Given the description of an element on the screen output the (x, y) to click on. 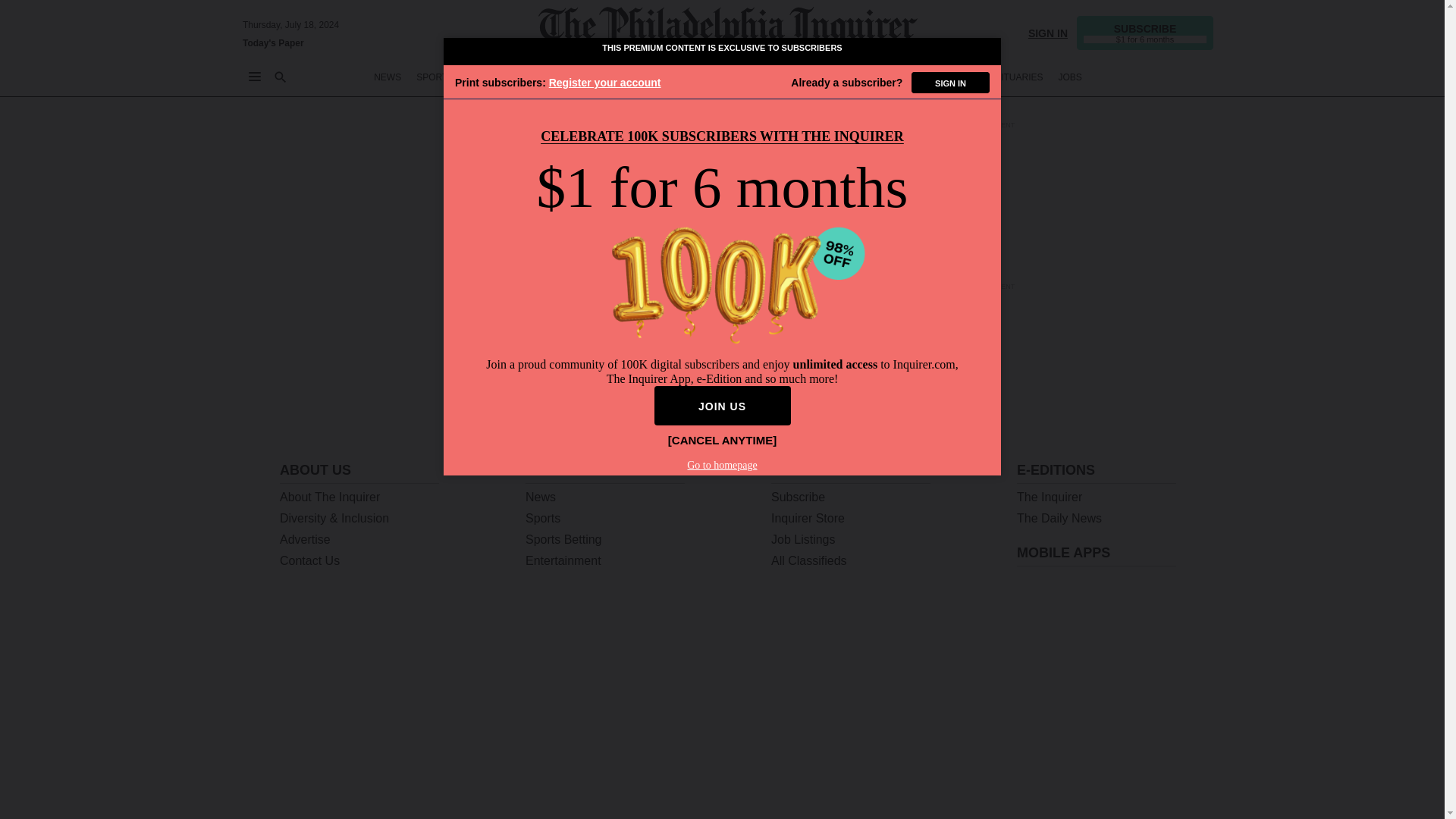
Instagram (1115, 790)
Facebook (1076, 790)
Twitter (1036, 790)
